Given the description of an element on the screen output the (x, y) to click on. 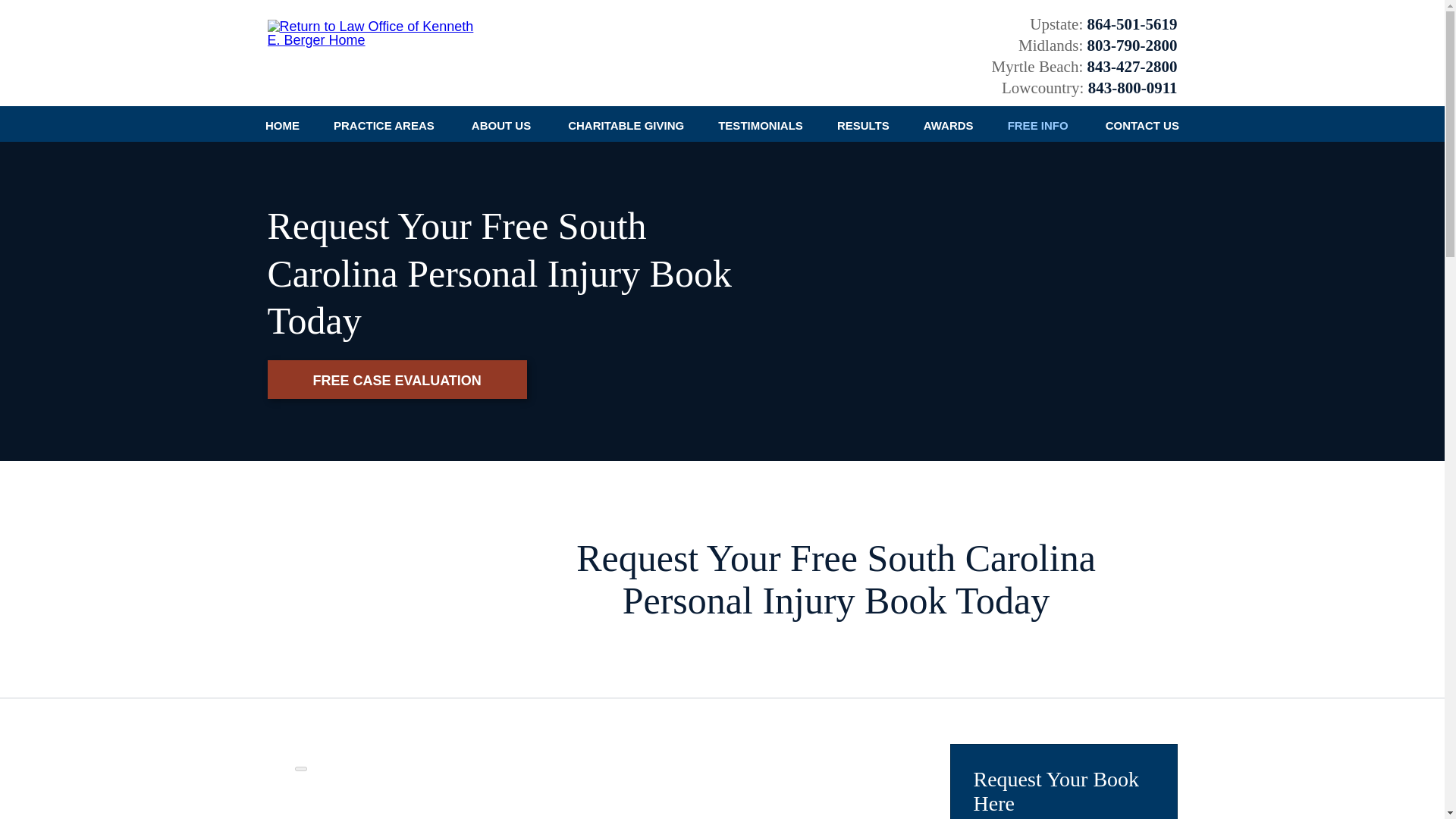
ABOUT US (502, 123)
RESULTS (862, 123)
PRACTICE AREAS (385, 123)
TESTIMONIALS (761, 123)
AWARDS (947, 123)
HOME (282, 123)
CHARITABLE GIVING (626, 123)
